Given the description of an element on the screen output the (x, y) to click on. 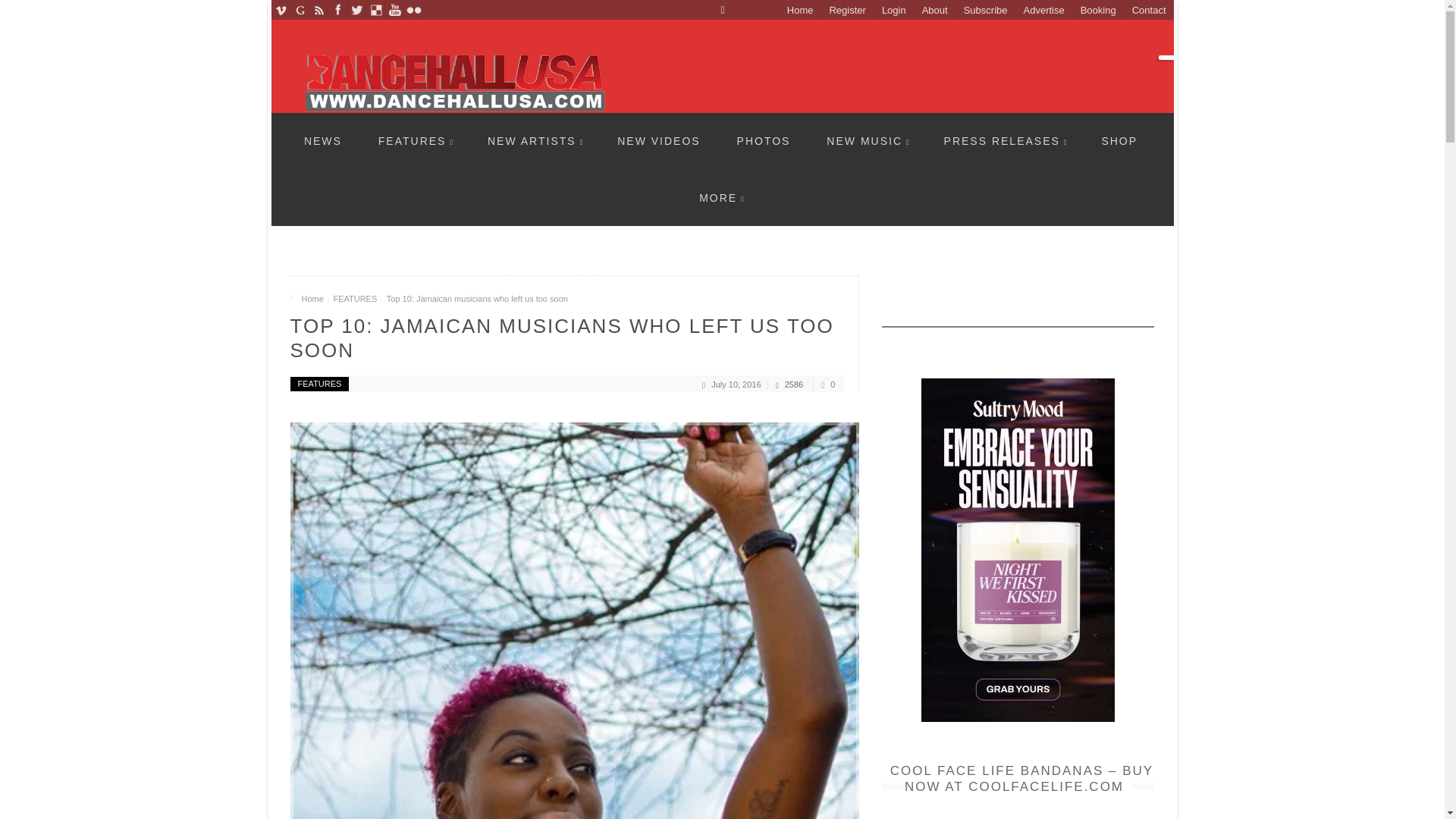
Login (893, 10)
Skip to content (335, 120)
FEATURES (416, 140)
About (934, 10)
Follow us on Twitter (356, 9)
NEW ARTISTS (535, 140)
Home (799, 10)
Subscribe (984, 10)
9:00 am (735, 384)
Follow us on Flickr (412, 9)
Follow us on Rss Feed (318, 9)
PHOTOS (764, 140)
Follow us on YouTube (394, 9)
Booking (1097, 10)
Register (846, 10)
